Given the description of an element on the screen output the (x, y) to click on. 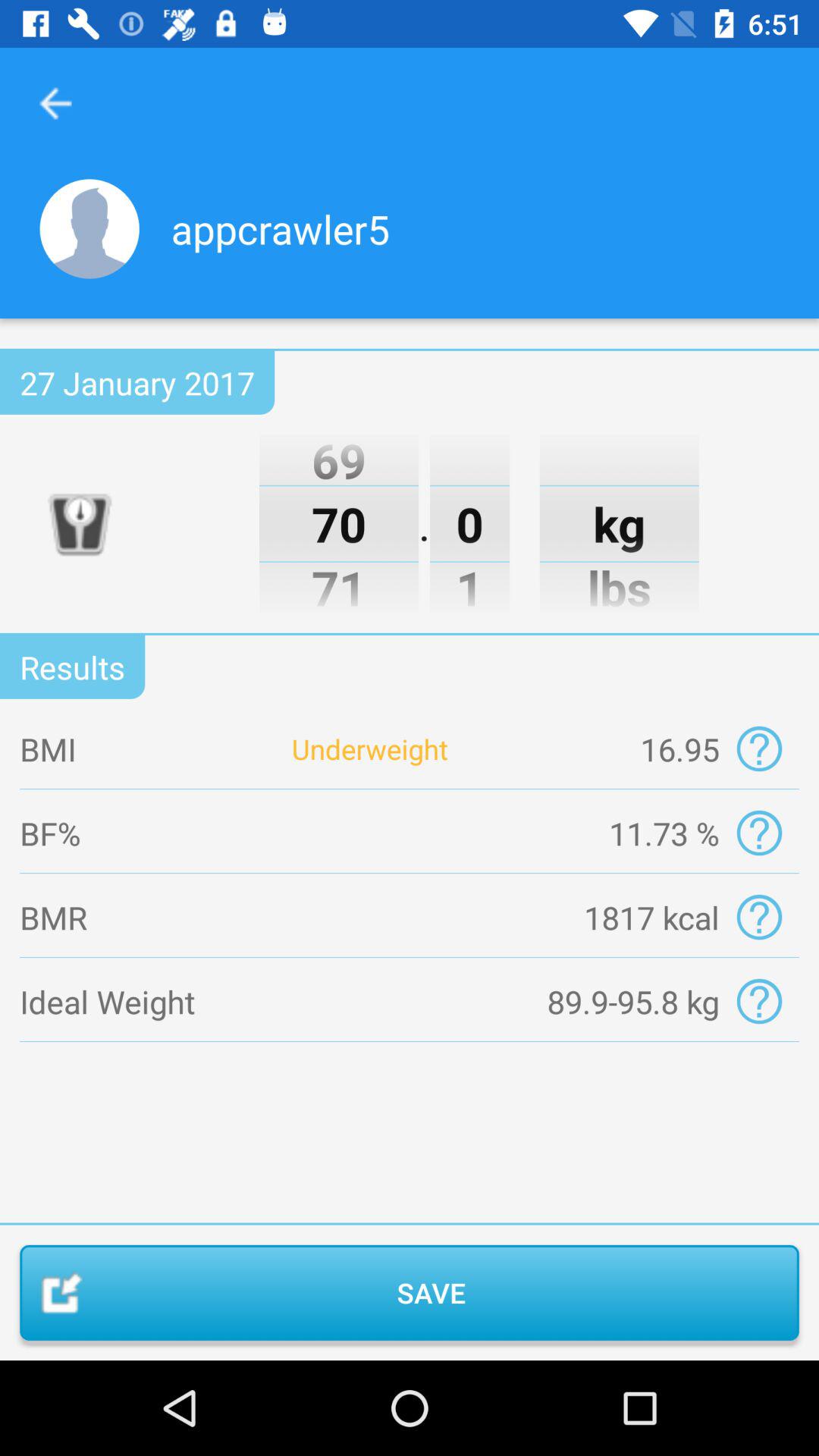
bmr faq (759, 917)
